Given the description of an element on the screen output the (x, y) to click on. 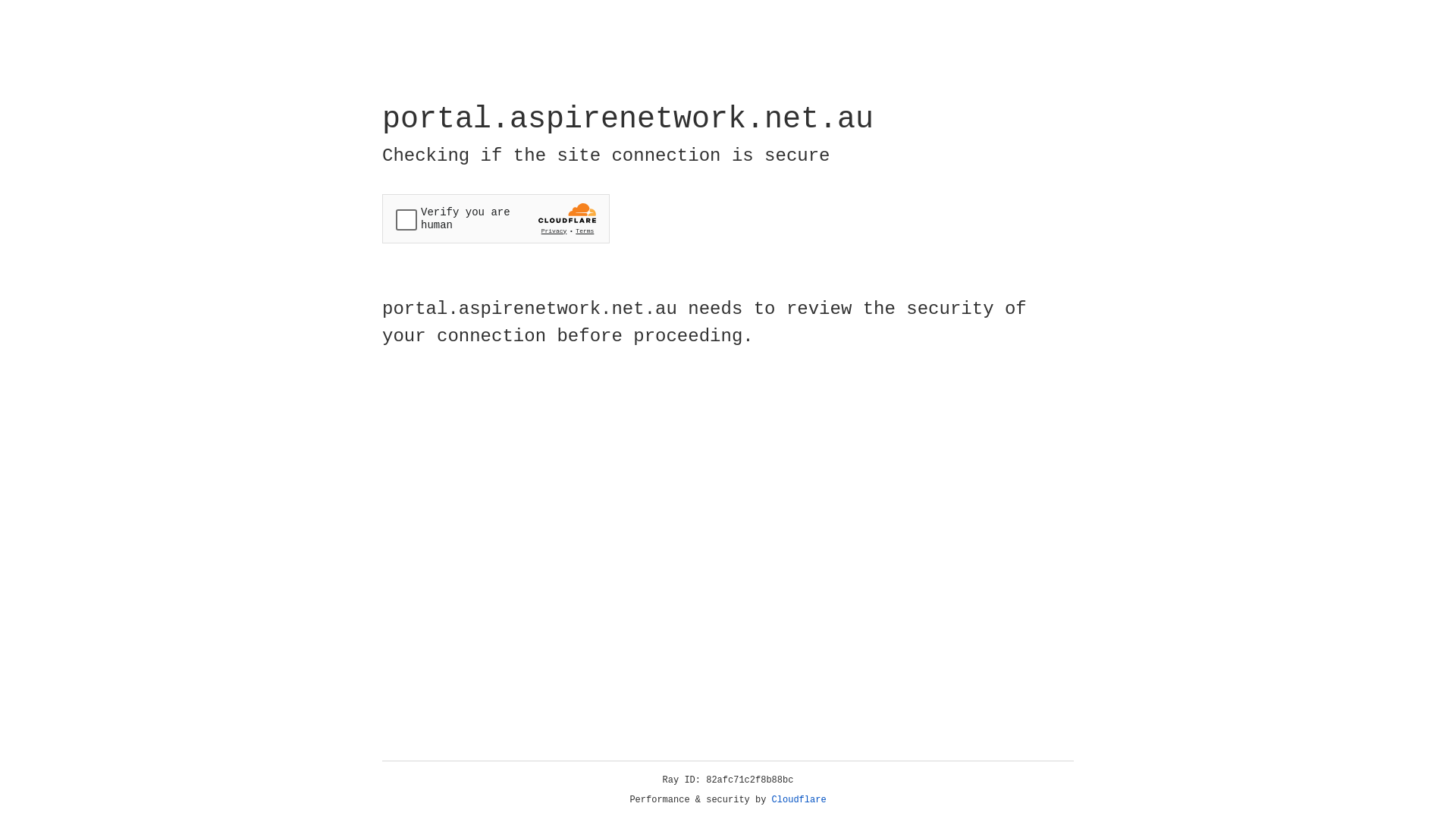
Cloudflare Element type: text (798, 799)
Widget containing a Cloudflare security challenge Element type: hover (495, 218)
